Given the description of an element on the screen output the (x, y) to click on. 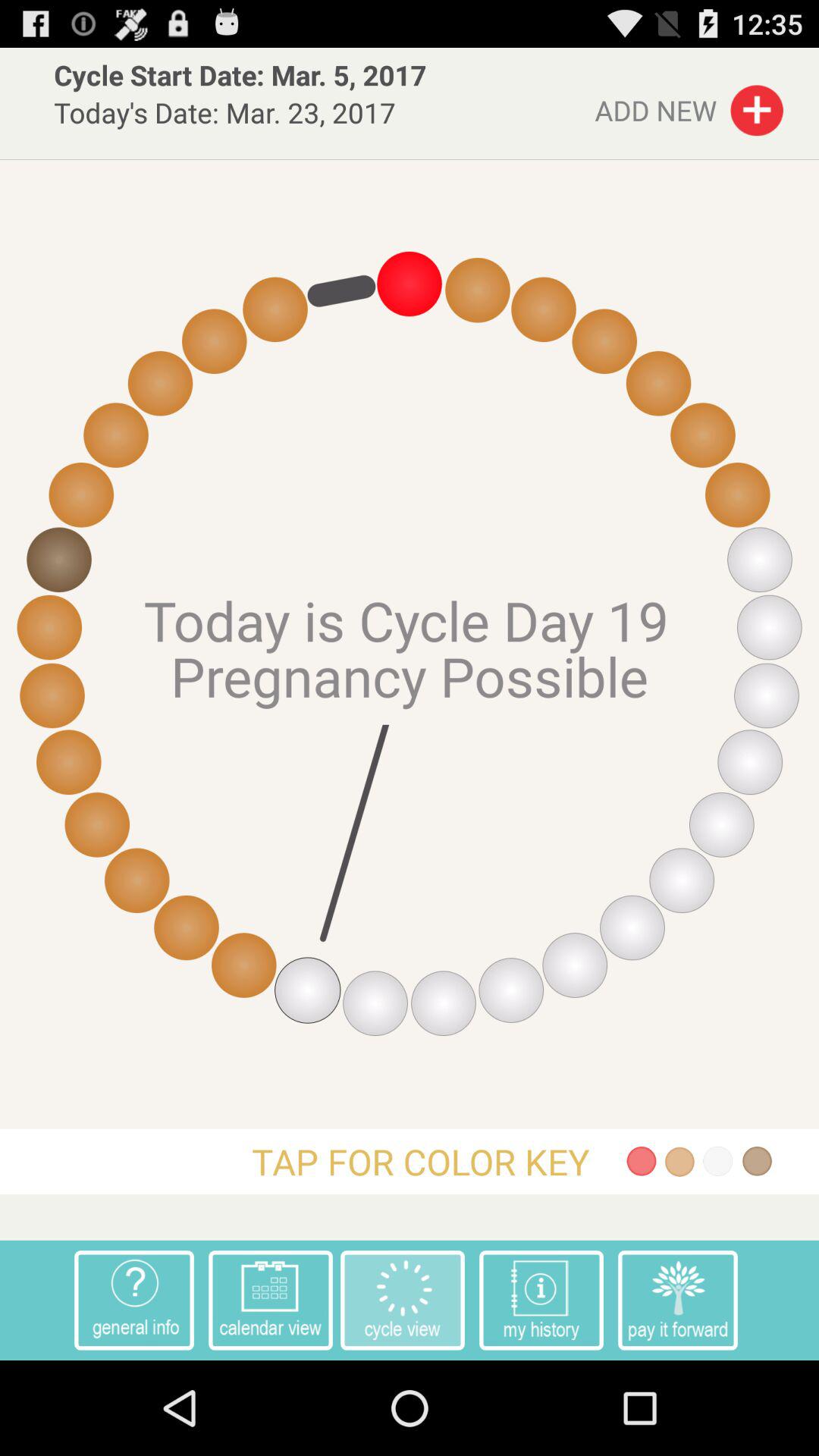
open app to the right of the (677, 1300)
